Given the description of an element on the screen output the (x, y) to click on. 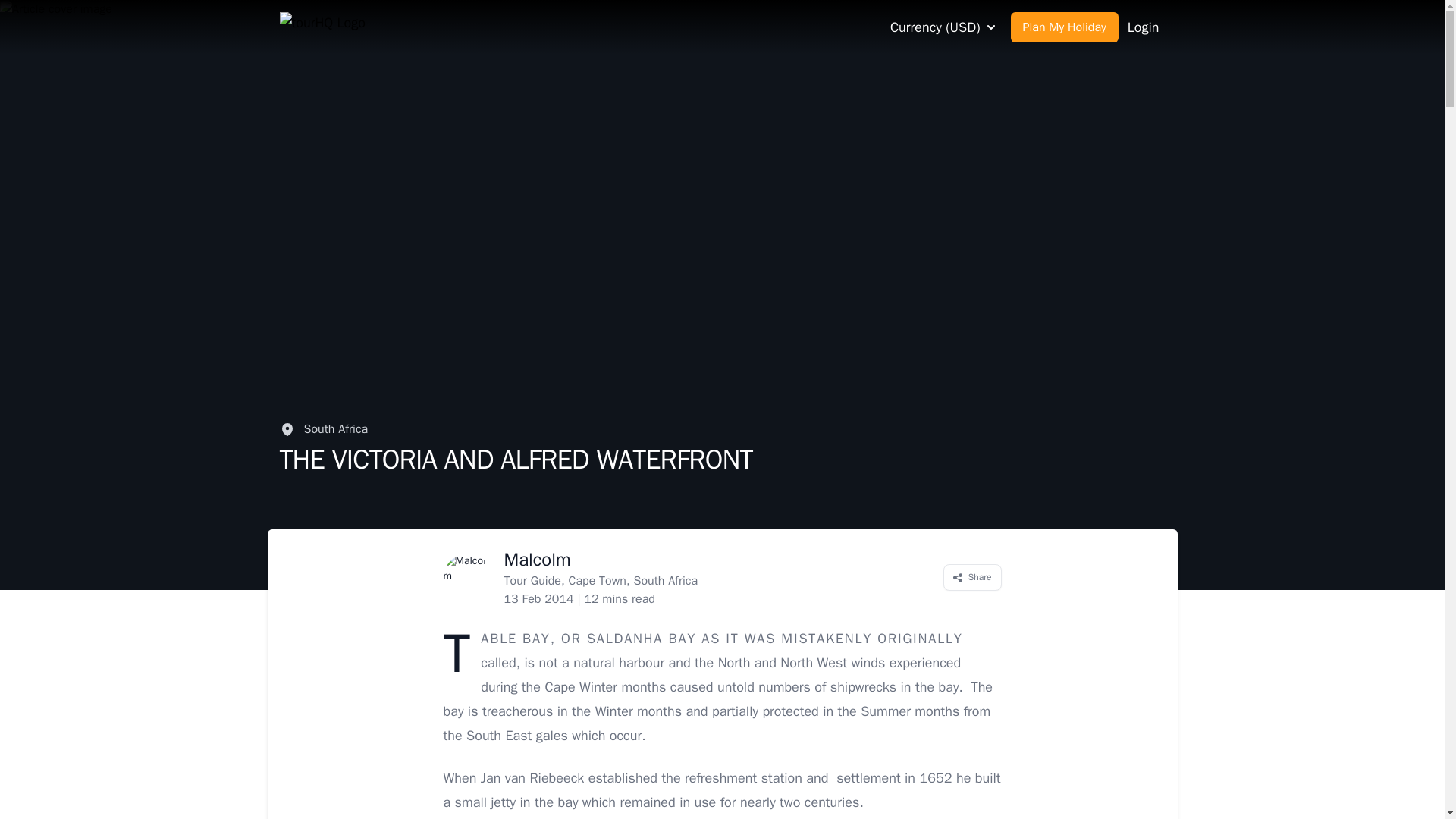
Malcolm (536, 558)
13 Feb 2014 (538, 598)
Login (1142, 26)
Share (972, 577)
Plan My Holiday (1064, 27)
